Given the description of an element on the screen output the (x, y) to click on. 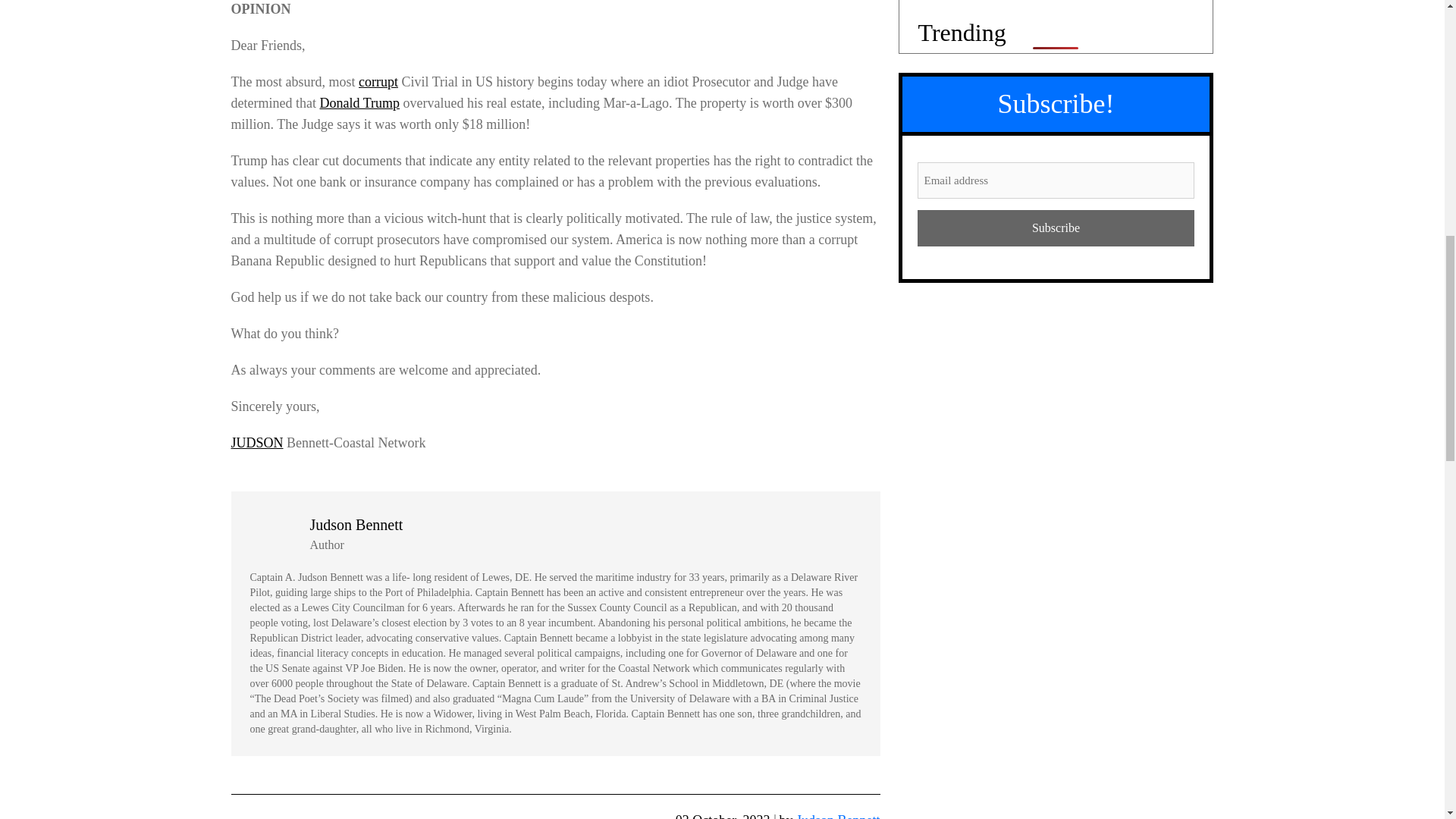
Subscribe (1056, 227)
corrupt (377, 81)
Donald Trump (358, 102)
